Given the description of an element on the screen output the (x, y) to click on. 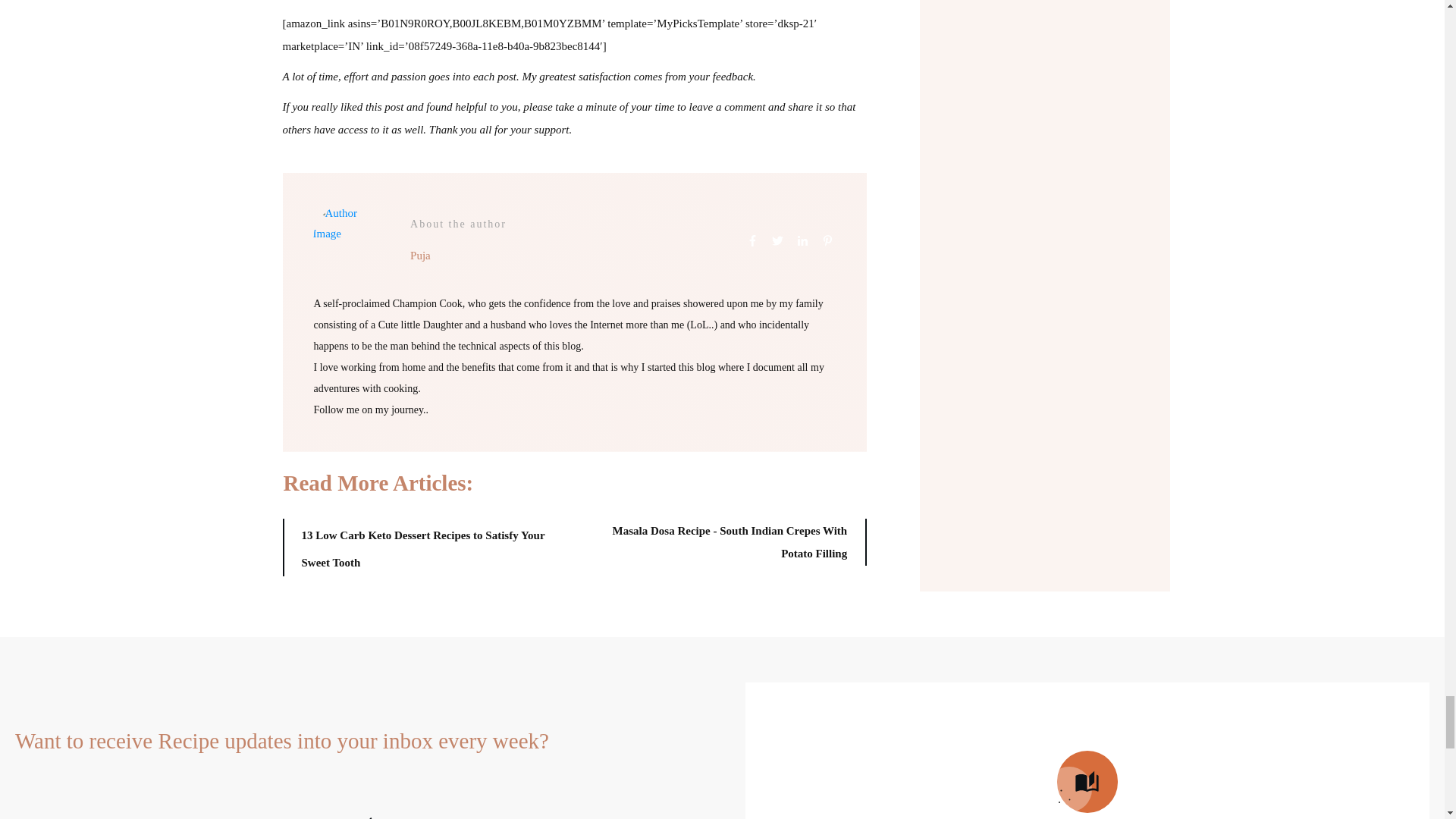
undefined (350, 240)
